Given the description of an element on the screen output the (x, y) to click on. 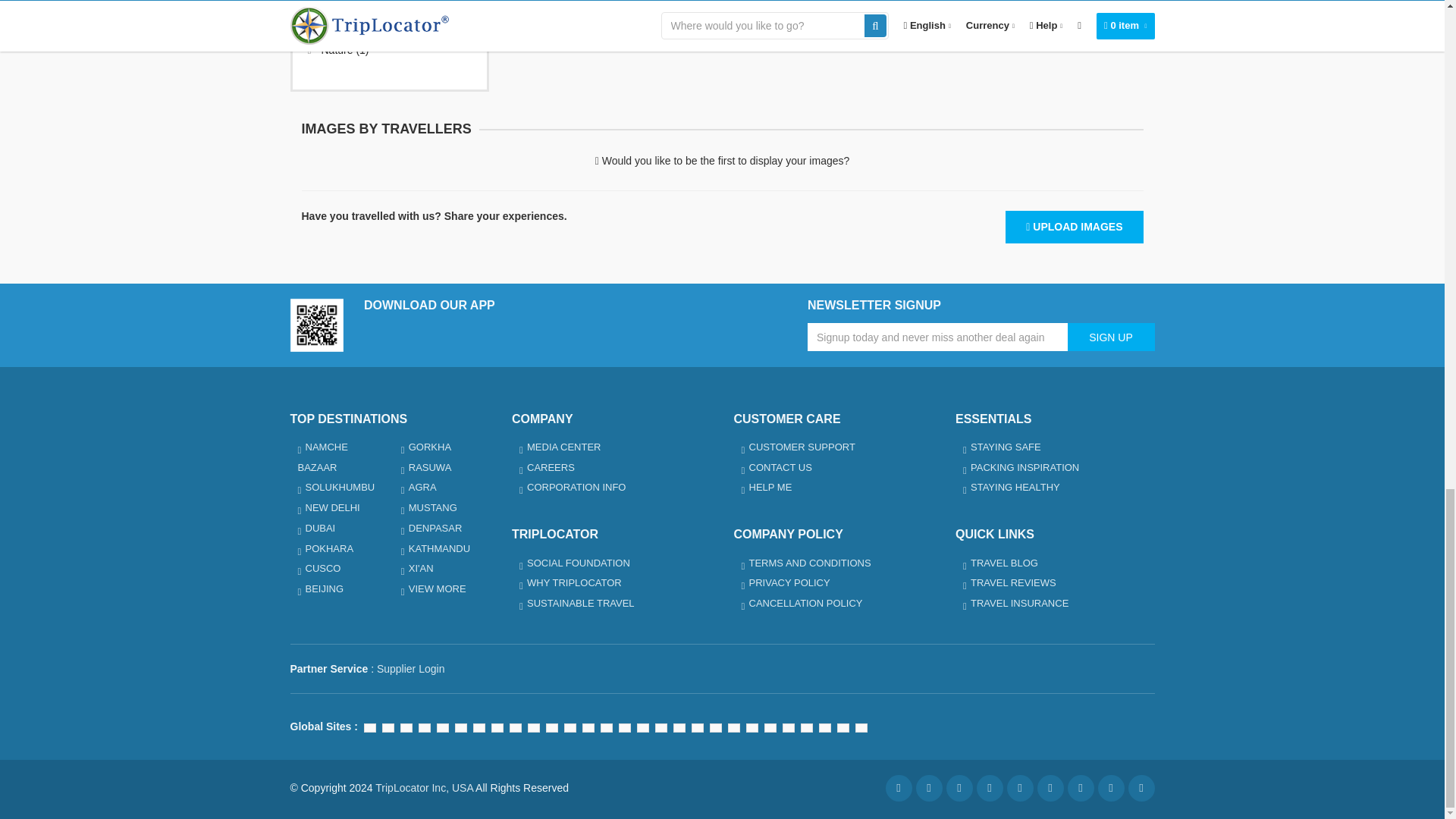
in (387, 727)
fr (460, 727)
kr (424, 727)
hk (533, 727)
ie (515, 727)
Page QR Code Image (315, 324)
br (406, 727)
dk (605, 727)
fi (588, 727)
jp (369, 727)
ch (570, 727)
lt (624, 727)
gb (497, 727)
au (442, 727)
at (478, 727)
